Given the description of an element on the screen output the (x, y) to click on. 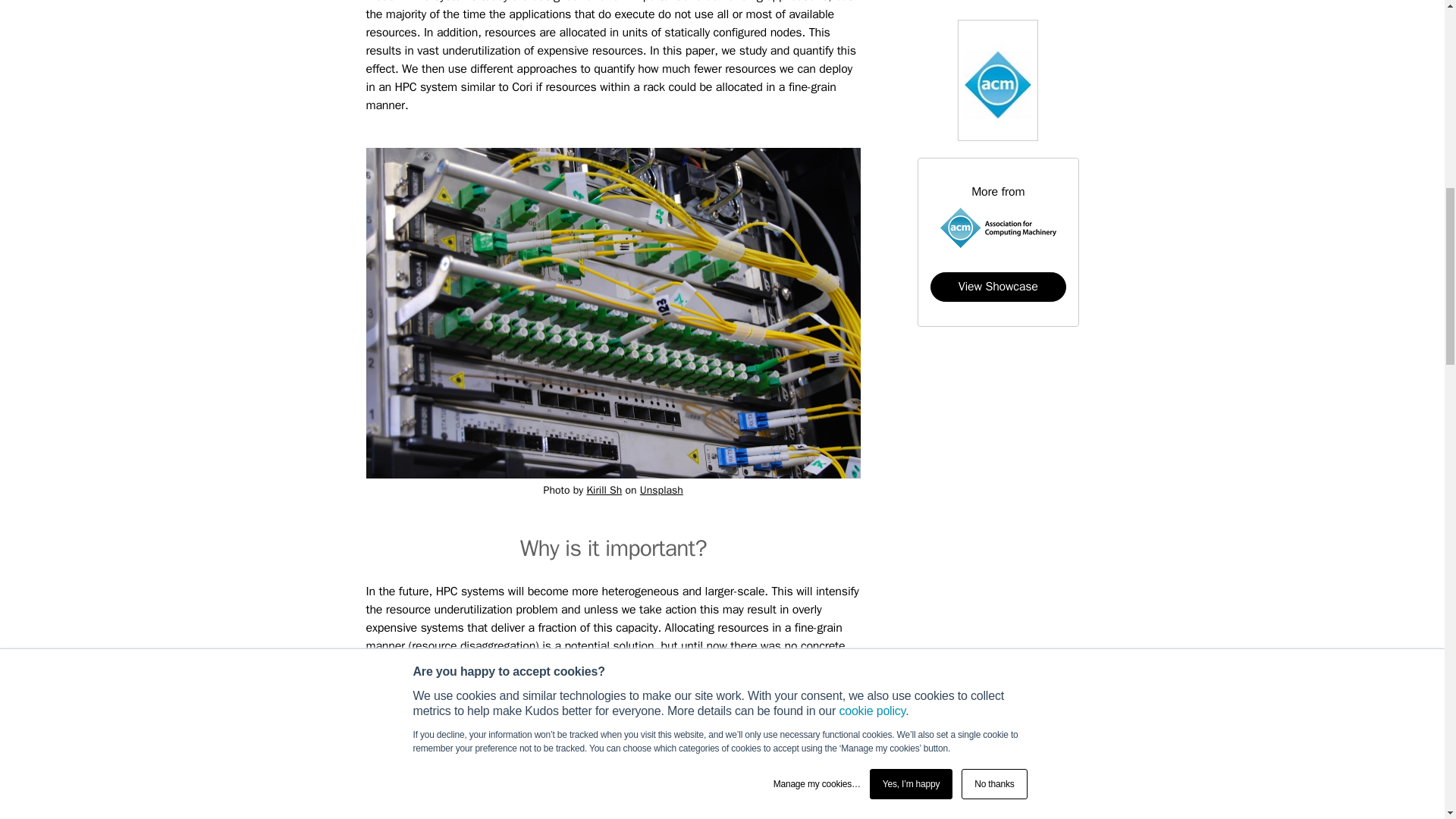
Unsplash (661, 490)
Kirill Sh (391, 780)
View Showcase (603, 490)
